Given the description of an element on the screen output the (x, y) to click on. 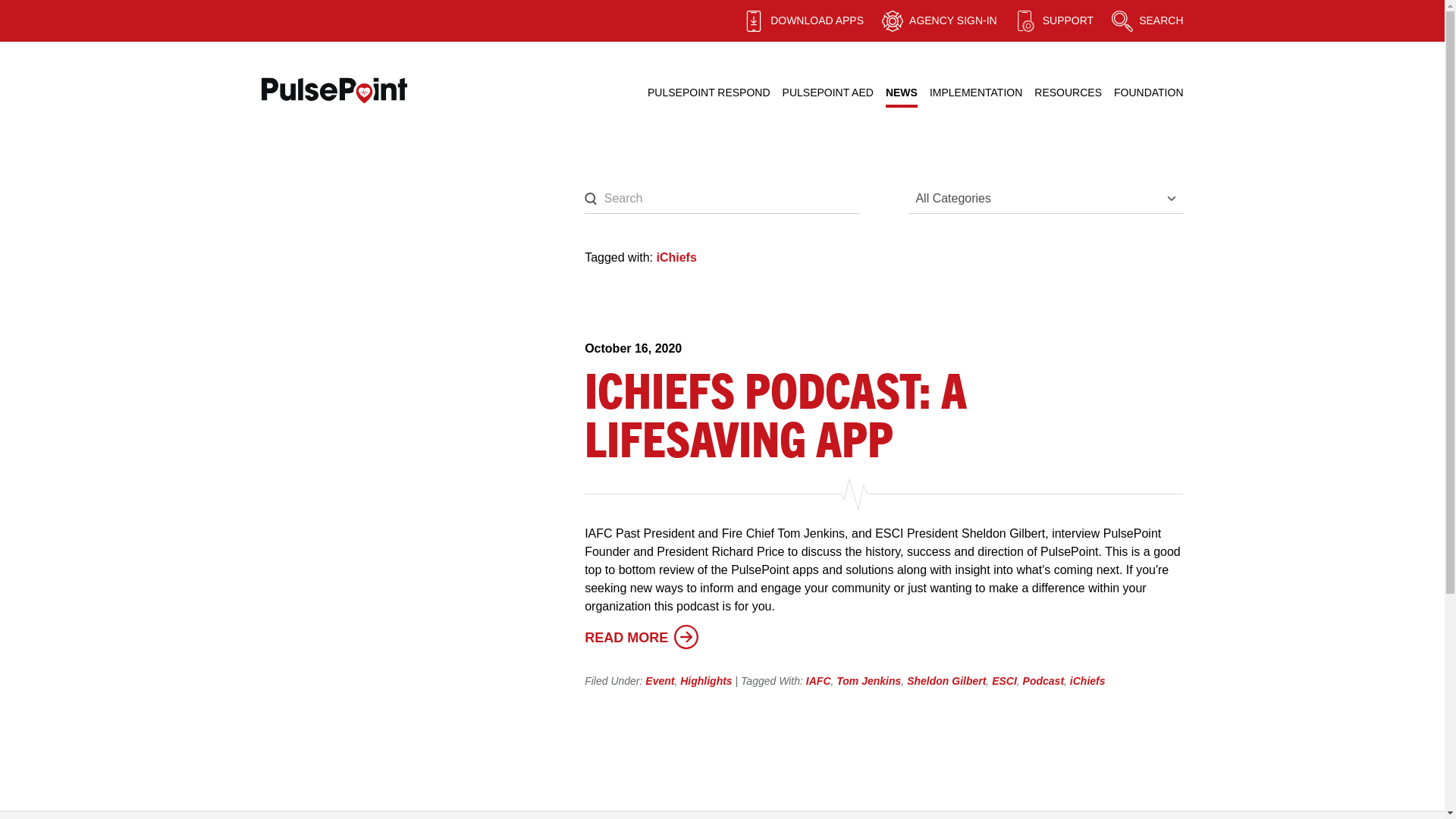
PULSEPOINT RESPOND (708, 92)
RESOURCES (1067, 92)
AGENCY SIGN-IN (939, 20)
NEWS (901, 93)
SEARCH (1147, 20)
IMPLEMENTATION (976, 92)
FOUNDATION (1148, 92)
DOWNLOAD APPS (802, 20)
PULSEPOINT AED (828, 92)
SUPPORT (1053, 20)
